Given the description of an element on the screen output the (x, y) to click on. 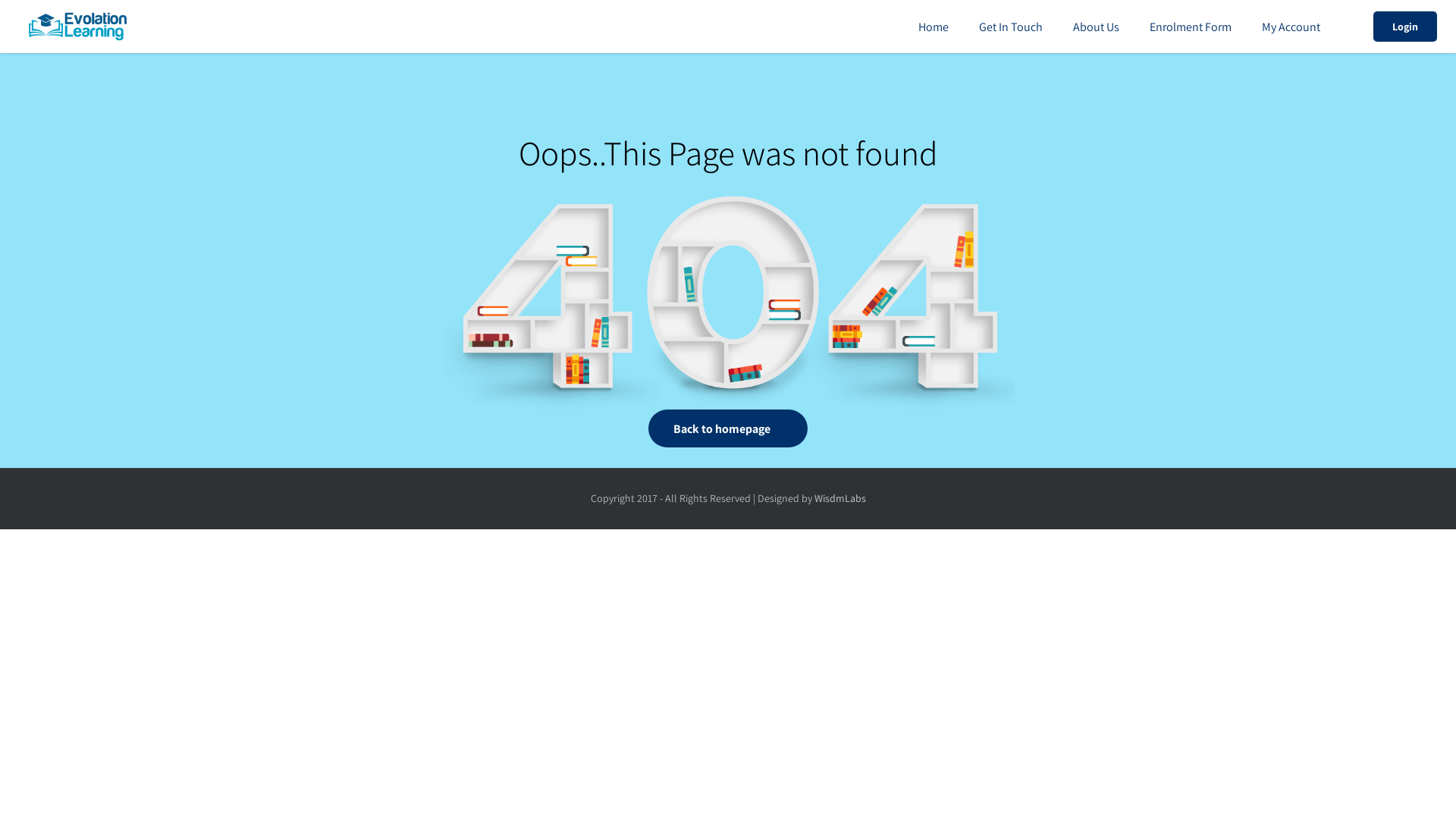
Home Element type: text (933, 26)
WisdmLabs Element type: text (840, 498)
Login Element type: text (1405, 26)
Get In Touch Element type: text (1010, 26)
Enrolment Form Element type: text (1190, 26)
My Account Element type: text (1290, 26)
Back to homepage Element type: text (727, 428)
About Us Element type: text (1095, 26)
